Given the description of an element on the screen output the (x, y) to click on. 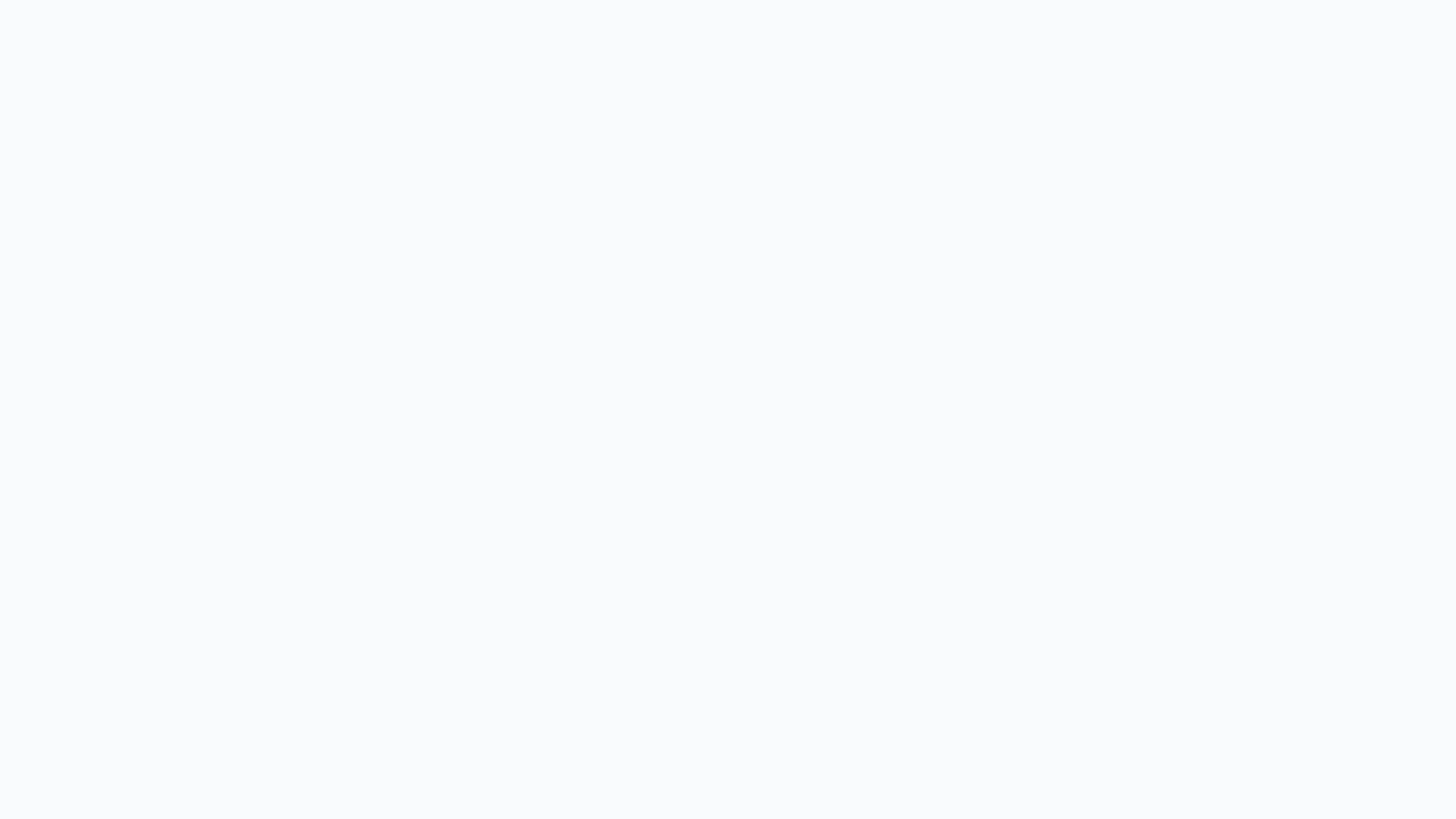
Chat Element type: hover (1417, 778)
